Given the description of an element on the screen output the (x, y) to click on. 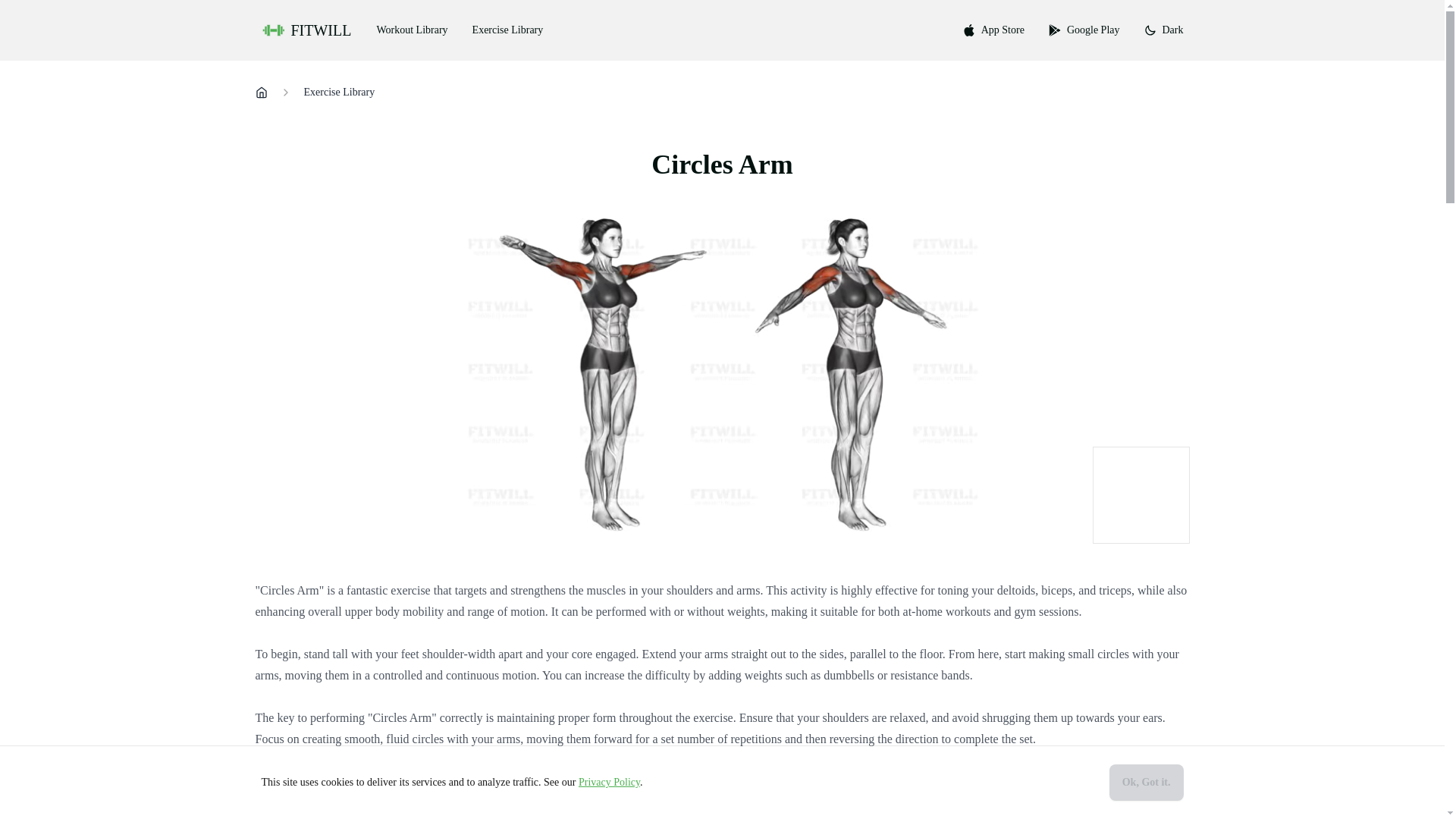
Dark (1163, 30)
Download Fitwill on the App Store (993, 30)
Get Fitwill on Google Play (1084, 30)
FITWILL (307, 30)
Privacy Policy (609, 781)
Exercise Library (338, 92)
Home (260, 92)
App Store (993, 30)
Exercise Library (508, 30)
Workout Library (412, 30)
